Given the description of an element on the screen output the (x, y) to click on. 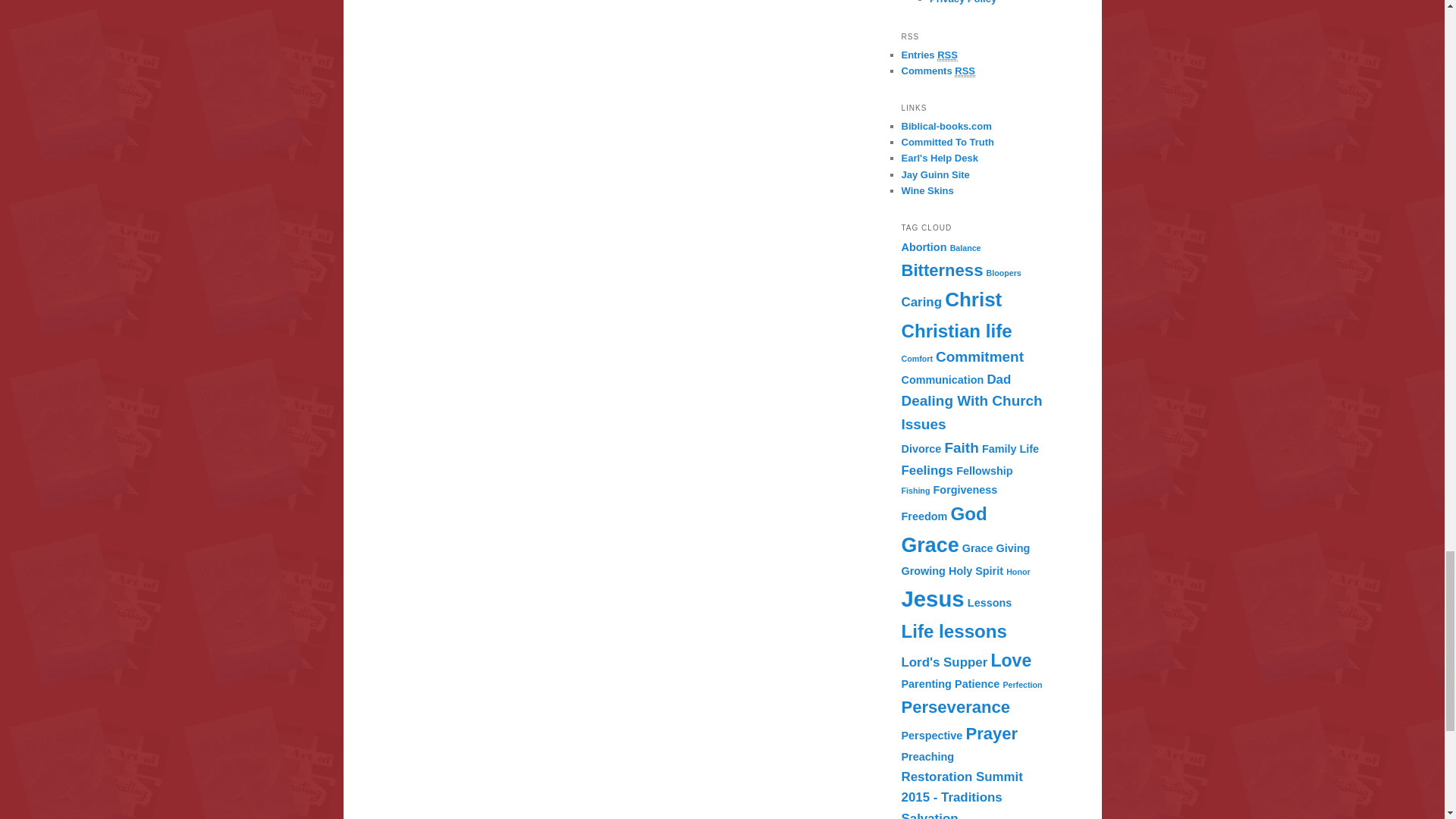
Biblical-books.com (946, 125)
Computer help and services (938, 157)
Really Simple Syndication (965, 70)
Religious blog (947, 142)
Really Simple Syndication (947, 55)
